Given the description of an element on the screen output the (x, y) to click on. 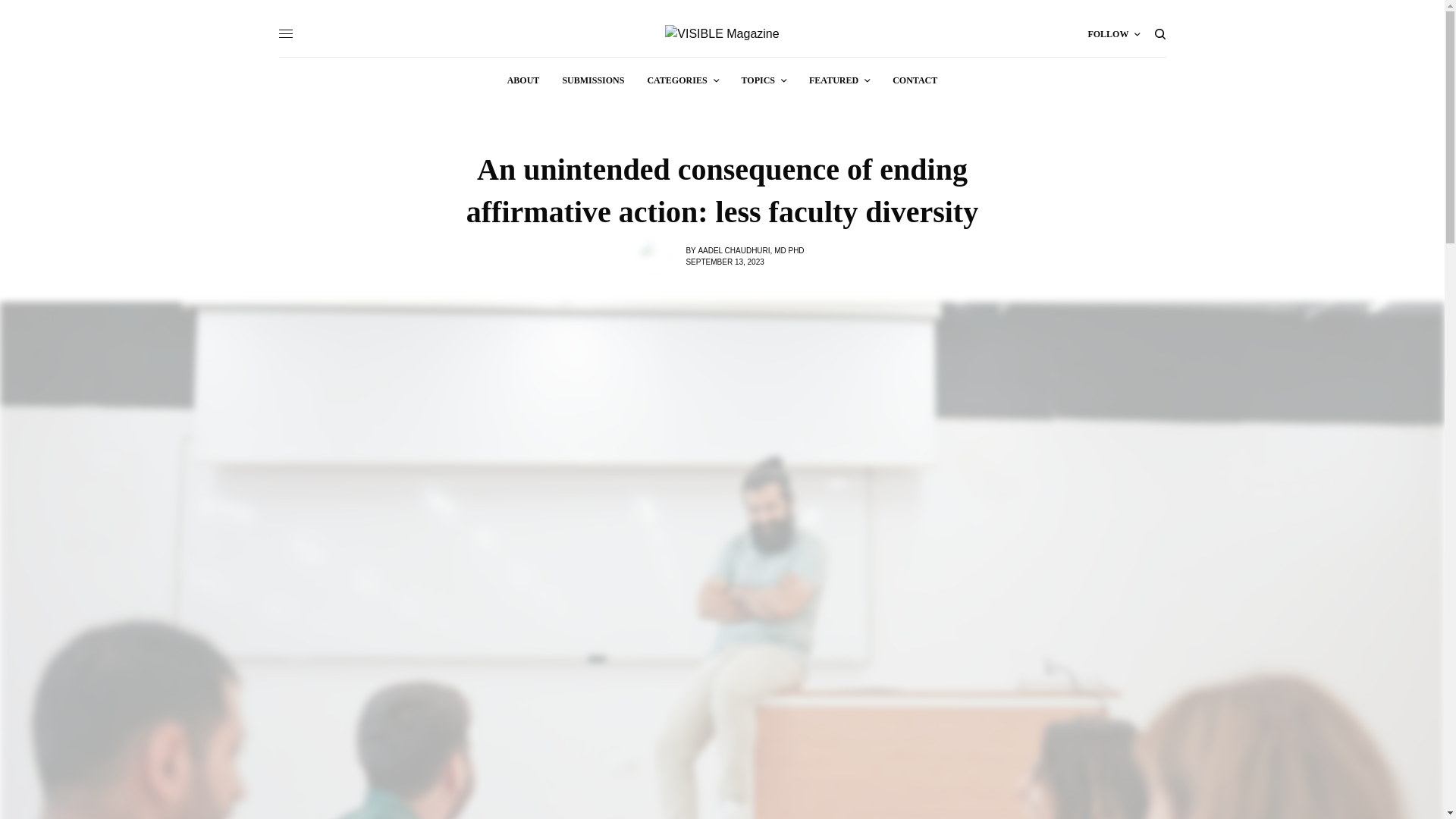
FOLLOW (1113, 33)
TOPICS (763, 80)
VISIBLE Magazine (721, 34)
SUBMISSIONS (593, 80)
FEATURED (839, 80)
Posts by Aadel Chaudhuri, MD PhD (750, 249)
CATEGORIES (681, 80)
